Given the description of an element on the screen output the (x, y) to click on. 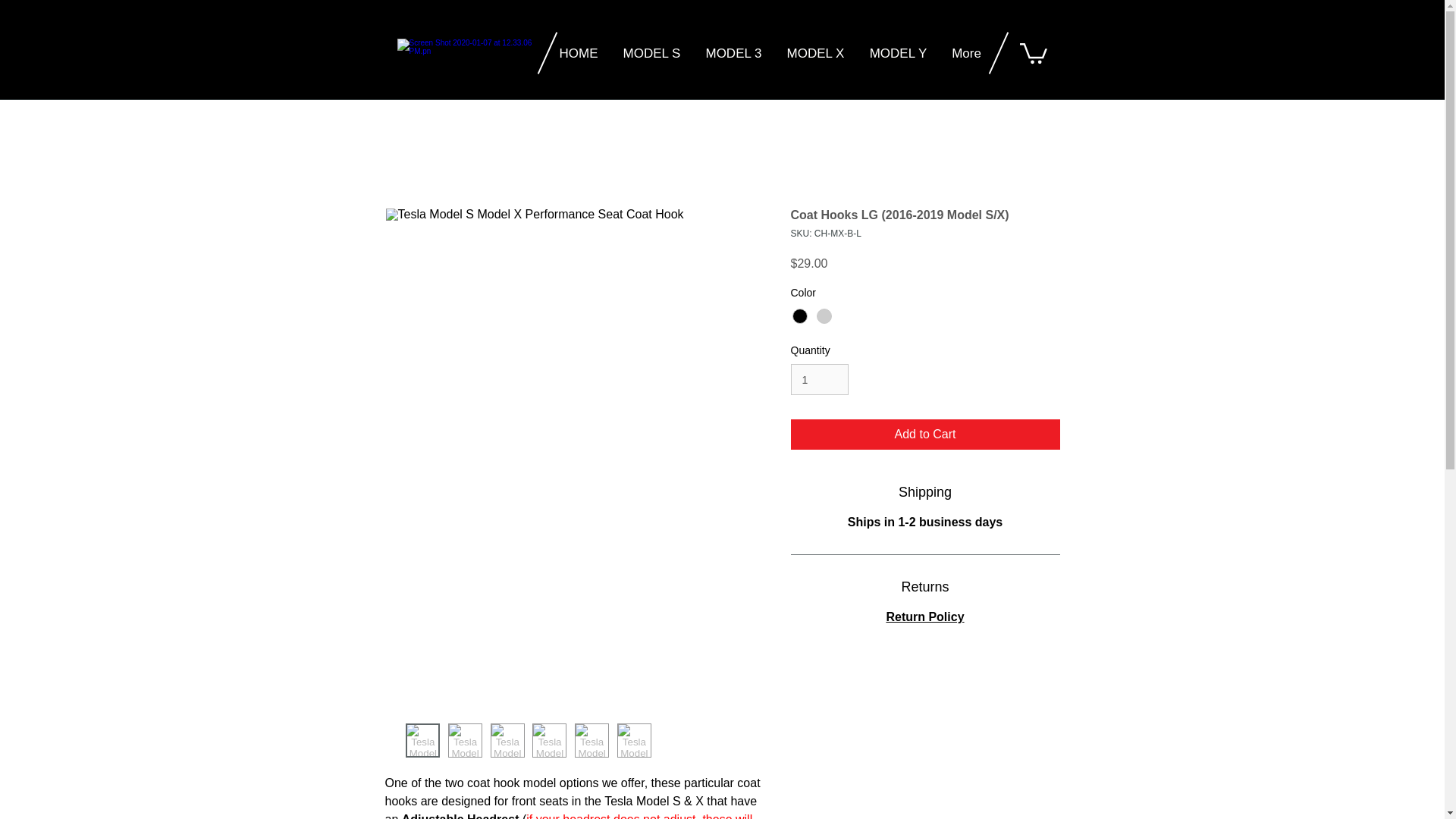
MODEL S (652, 53)
MODEL 3 (733, 53)
1 (818, 378)
HOME (578, 53)
MODEL Y (898, 53)
MODEL X (815, 53)
Add to Cart (924, 434)
Return Policy (924, 616)
